Given the description of an element on the screen output the (x, y) to click on. 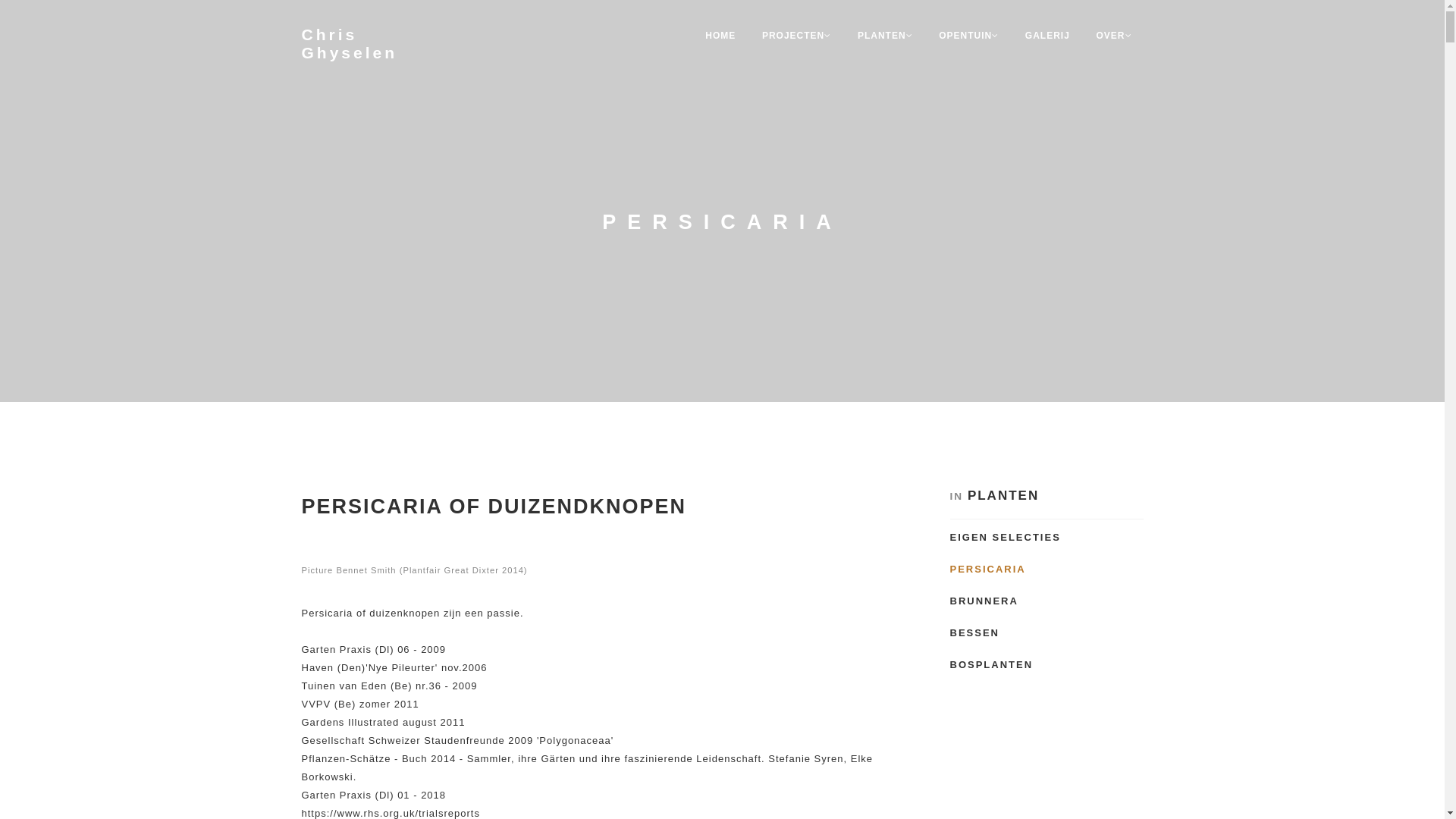
HOME Element type: text (719, 35)
PROJECTEN Element type: text (796, 35)
BESSEN Element type: text (973, 632)
GALERIJ Element type: text (1047, 35)
PLANTEN Element type: text (885, 35)
BOSPLANTEN Element type: text (990, 664)
EIGEN SELECTIES Element type: text (1004, 536)
Chris Ghyselen Element type: text (377, 43)
OPENTUIN Element type: text (968, 35)
BRUNNERA Element type: text (983, 600)
OVER Element type: text (1113, 35)
